Given the description of an element on the screen output the (x, y) to click on. 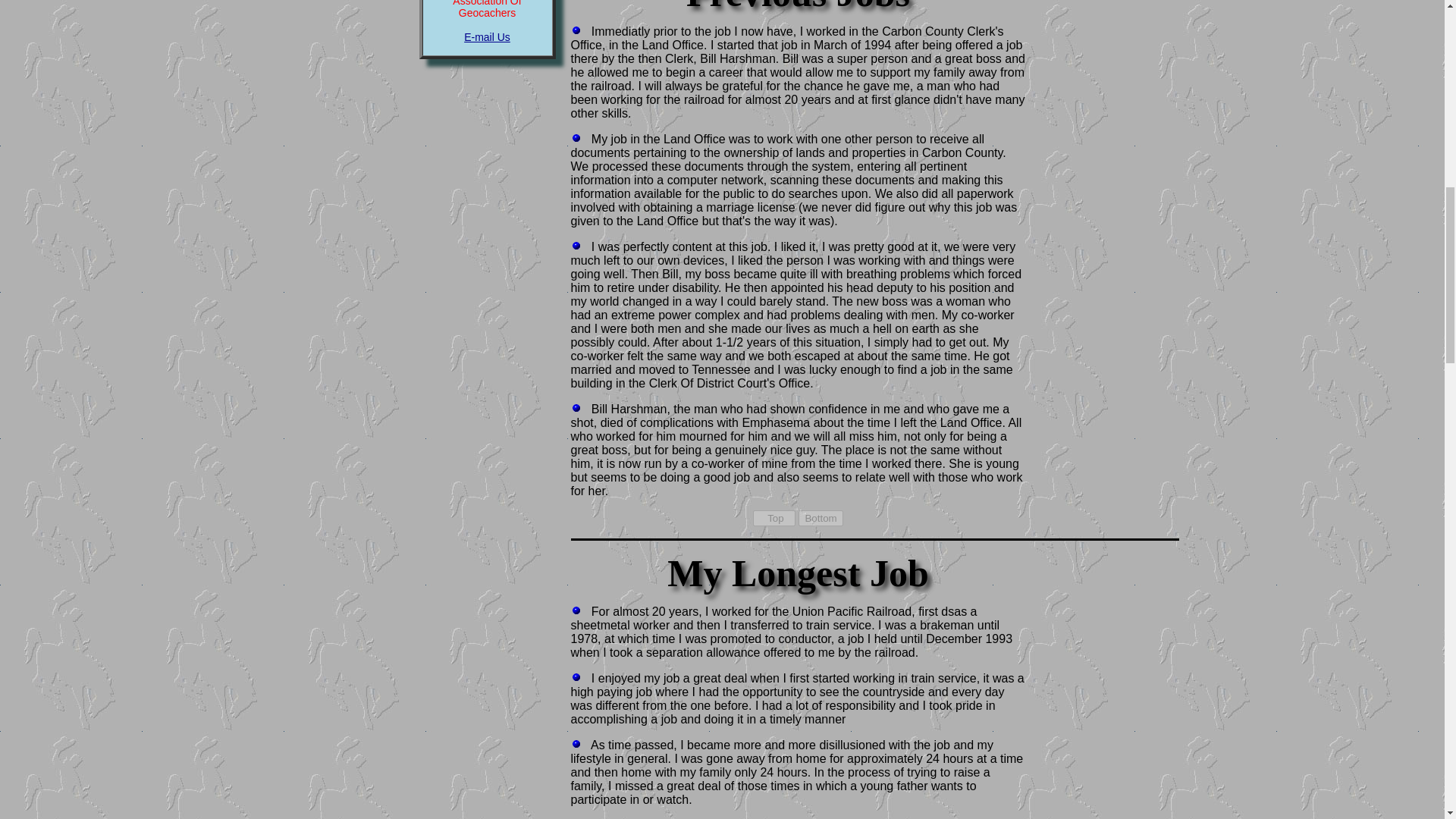
E-mail Us (487, 37)
Bottom (820, 518)
